Given the description of an element on the screen output the (x, y) to click on. 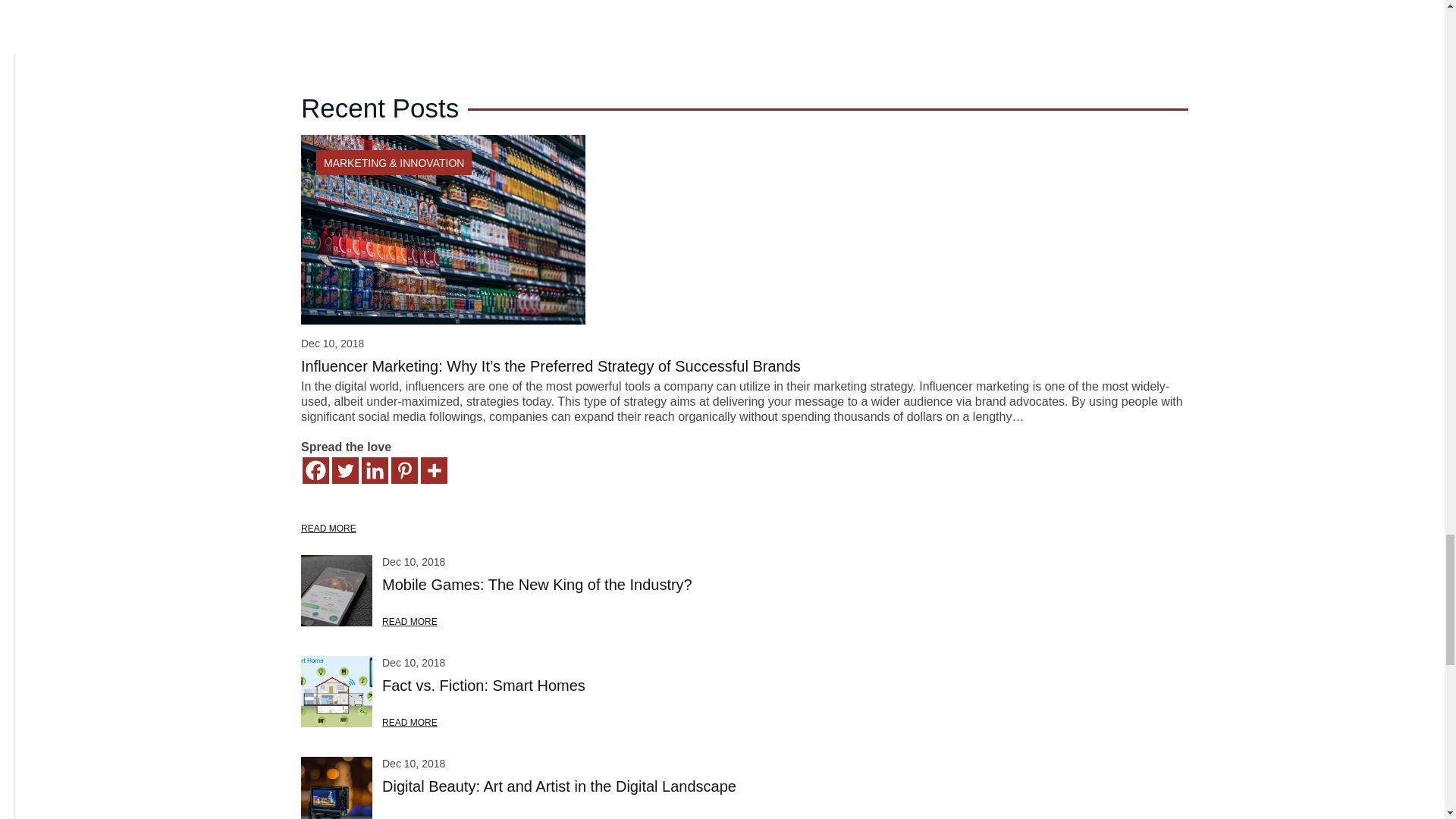
Linkedin (374, 470)
Pinterest (404, 470)
Facebook (315, 470)
Twitter (344, 470)
READ MORE (328, 528)
